Given the description of an element on the screen output the (x, y) to click on. 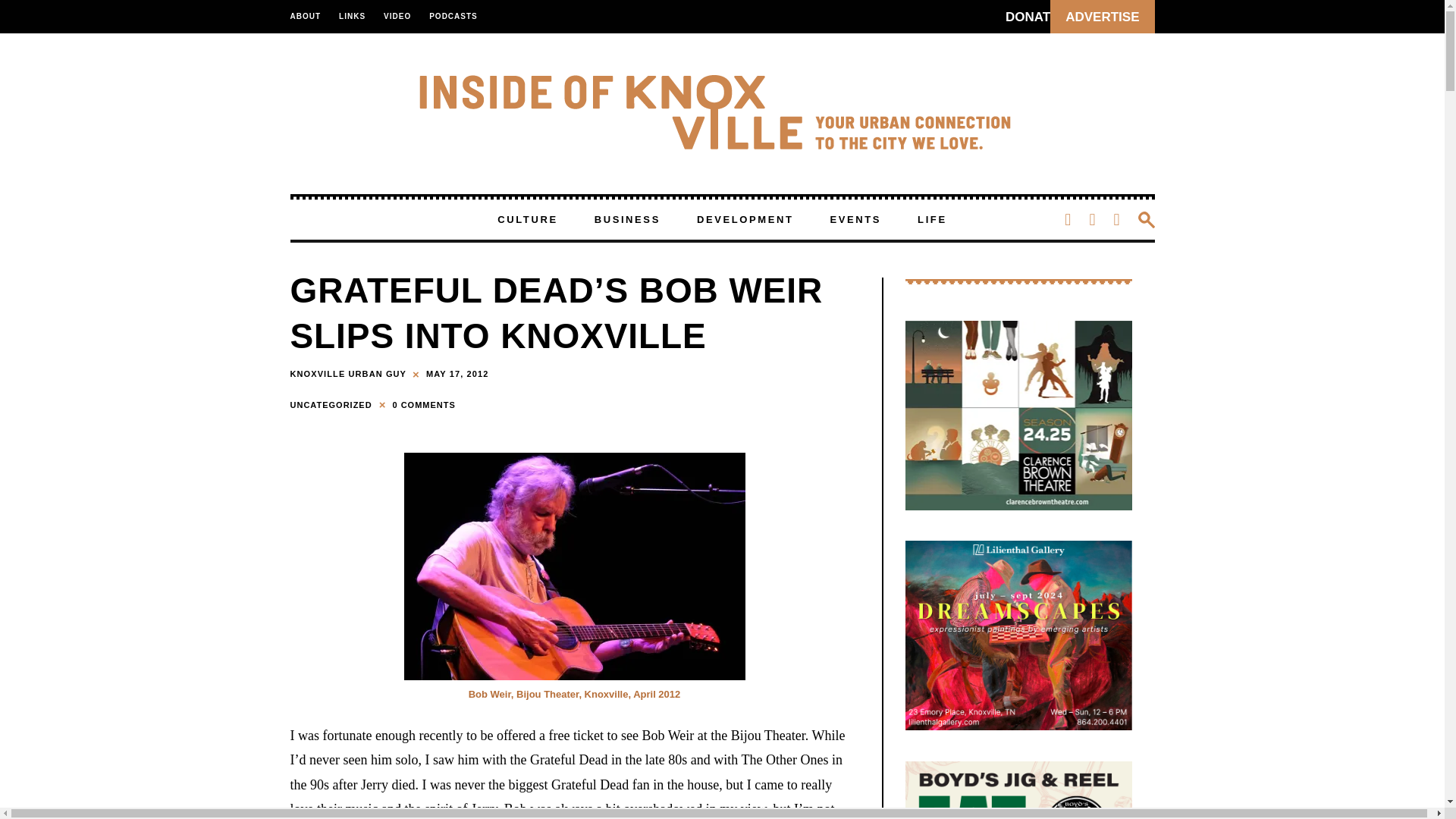
BUSINESS (627, 219)
DEVELOPMENT (745, 219)
EVENTS (854, 219)
0 COMMENTS (422, 404)
VIDEO (397, 16)
KNOXVILLE URBAN GUY (347, 373)
Bob Weir9, Bijou Theater, Knoxville, April 2012 (573, 566)
DONATE (1032, 16)
ADVERTISE (1101, 16)
PODCASTS (453, 16)
ABOUT (309, 16)
LIFE (932, 219)
CULTURE (527, 219)
LINKS (352, 16)
UNCATEGORIZED (331, 404)
